Given the description of an element on the screen output the (x, y) to click on. 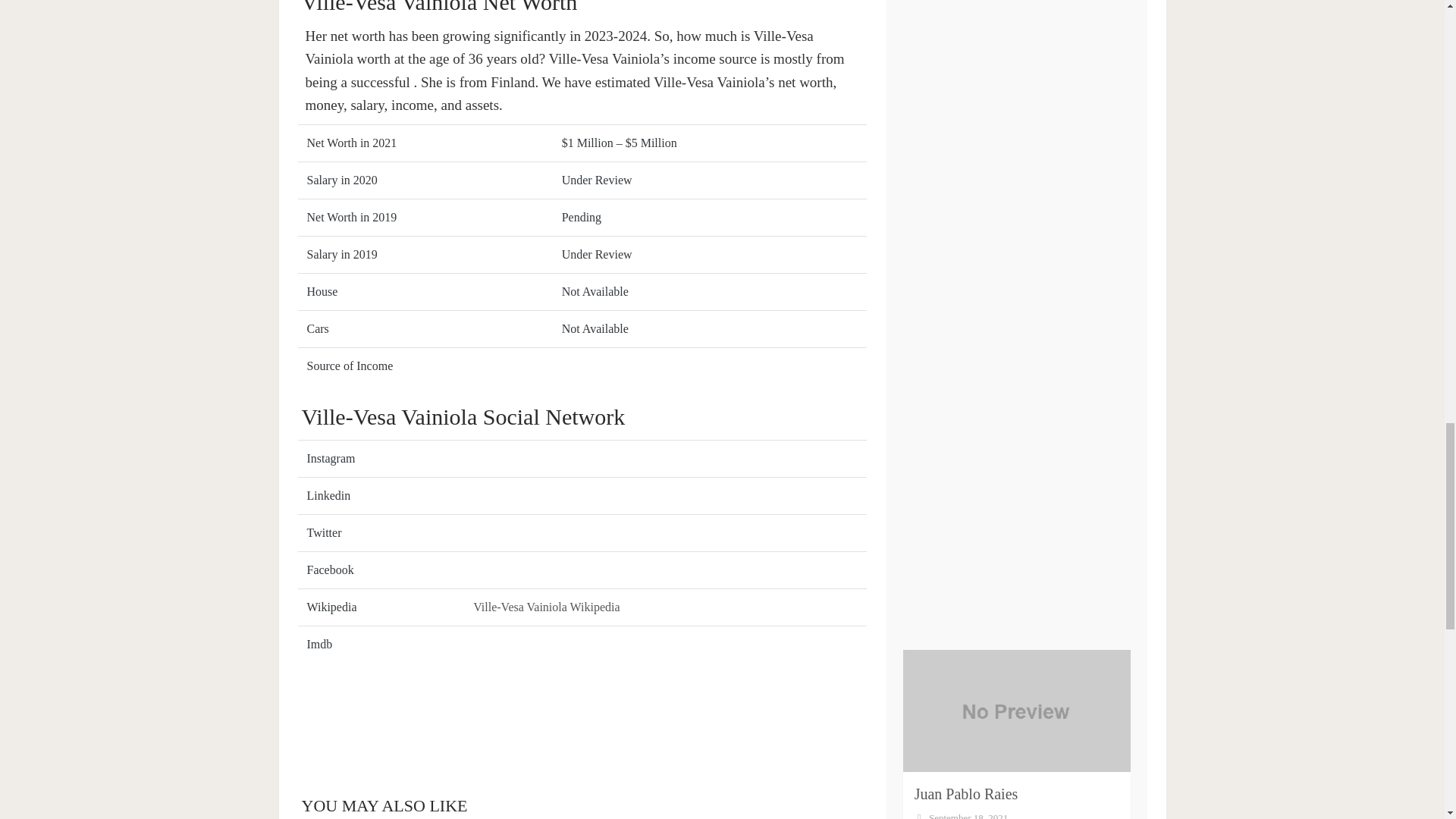
Juan Pablo Raies (965, 108)
Gurmeet Kaur (957, 328)
Ville-Vesa Vainiola Wikipedia (546, 606)
Corona Tracker (581, 708)
Bibhashwori Rai (965, 551)
